Given the description of an element on the screen output the (x, y) to click on. 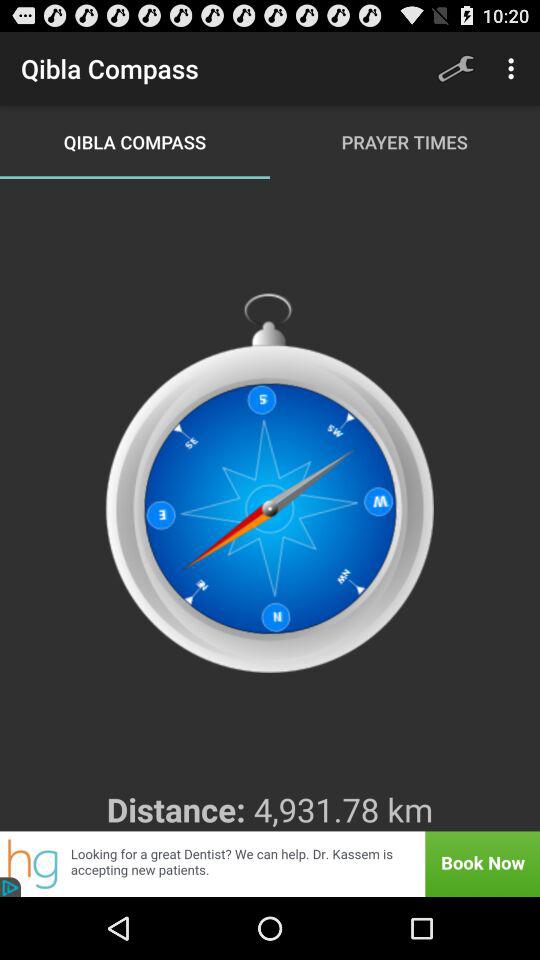
turn off item to the right of the qibla compass app (455, 67)
